Given the description of an element on the screen output the (x, y) to click on. 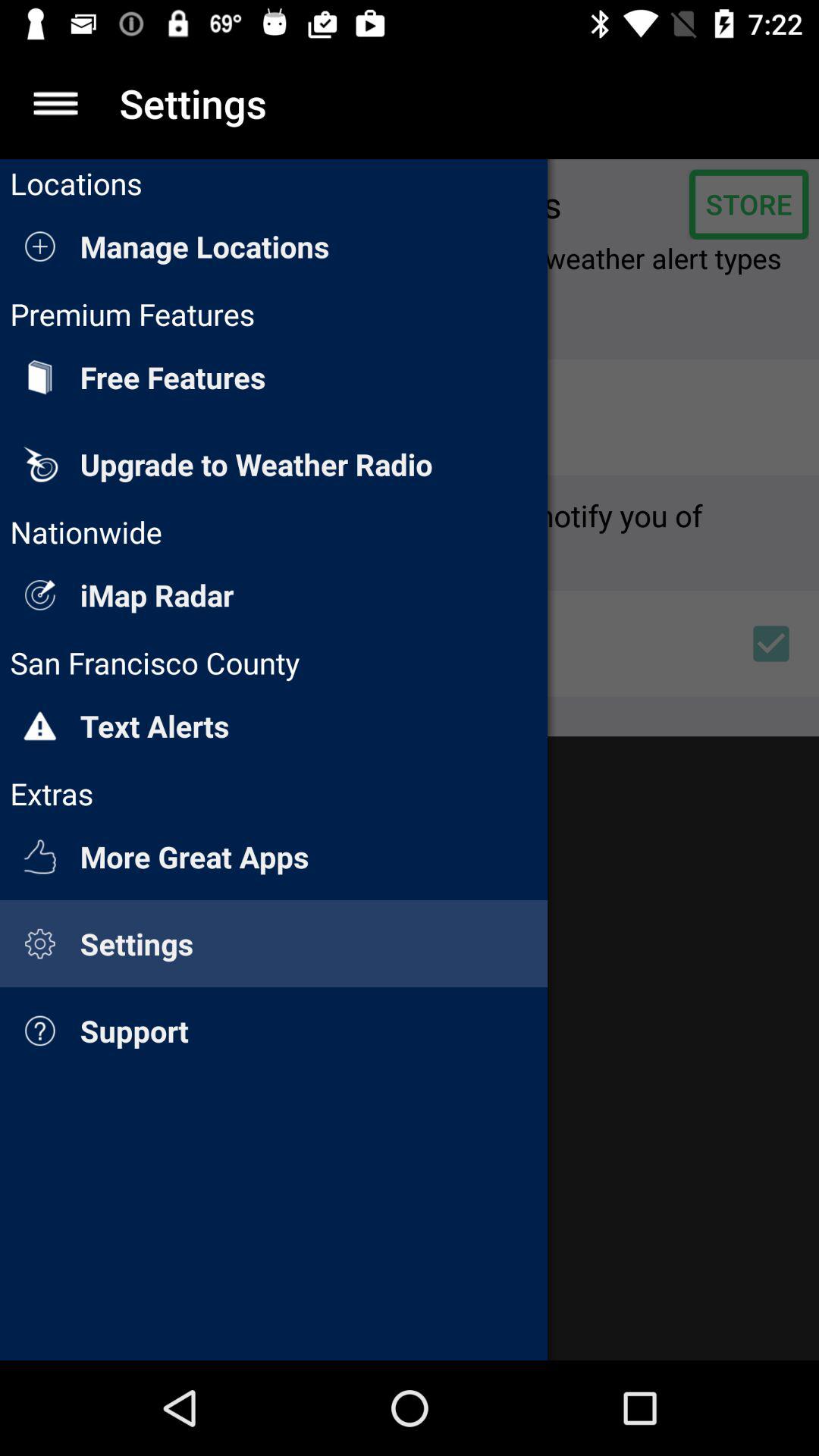
go to the text at the top right of the page (749, 205)
click on check box which is in green color and also has got tick mark (771, 643)
